Given the description of an element on the screen output the (x, y) to click on. 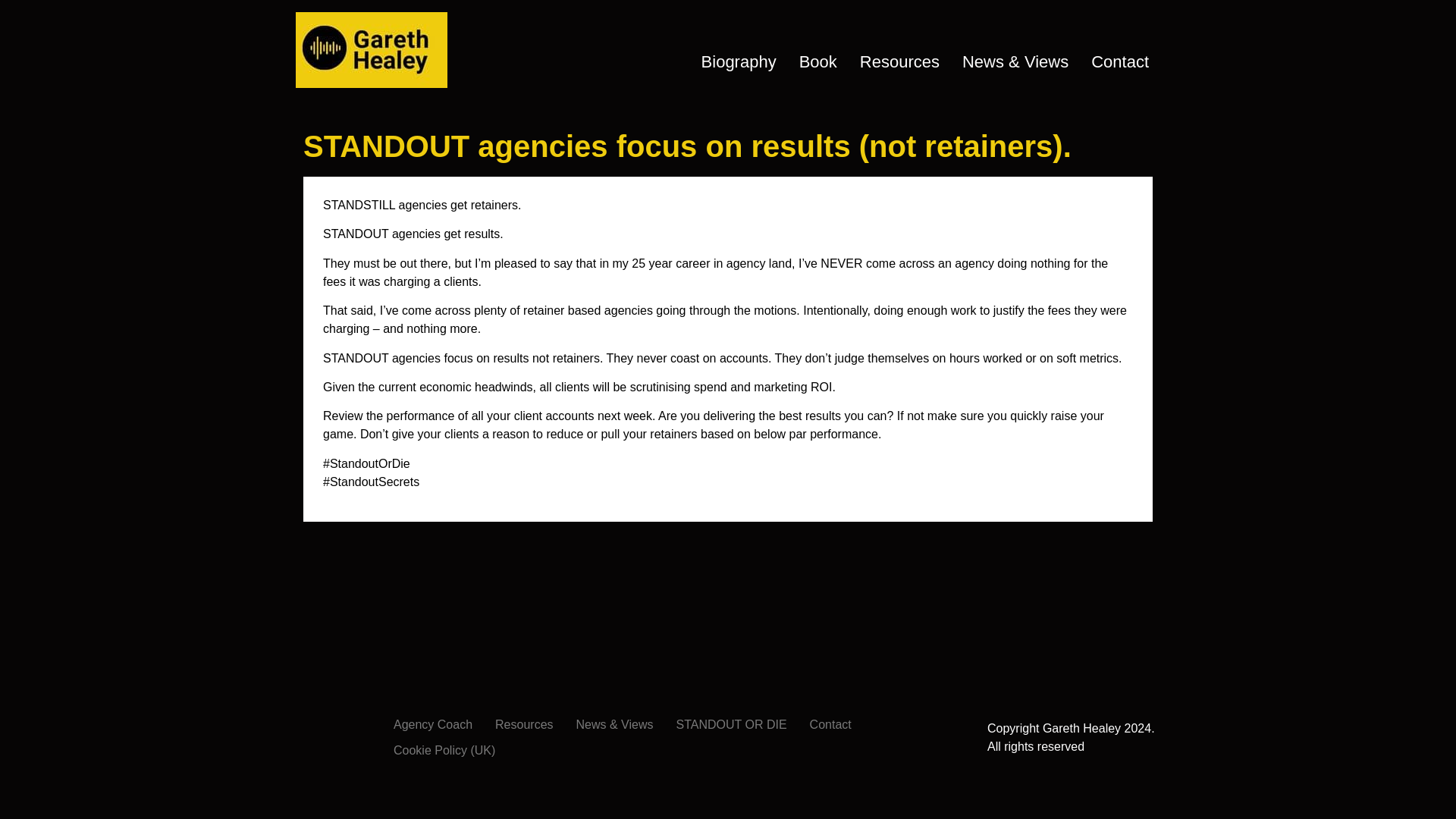
STANDOUT OR DIE (731, 724)
Book (817, 61)
Contact (830, 724)
Resources (899, 61)
Biography (738, 61)
Agency Coach (432, 724)
Resources (523, 724)
Contact (1120, 61)
